Given the description of an element on the screen output the (x, y) to click on. 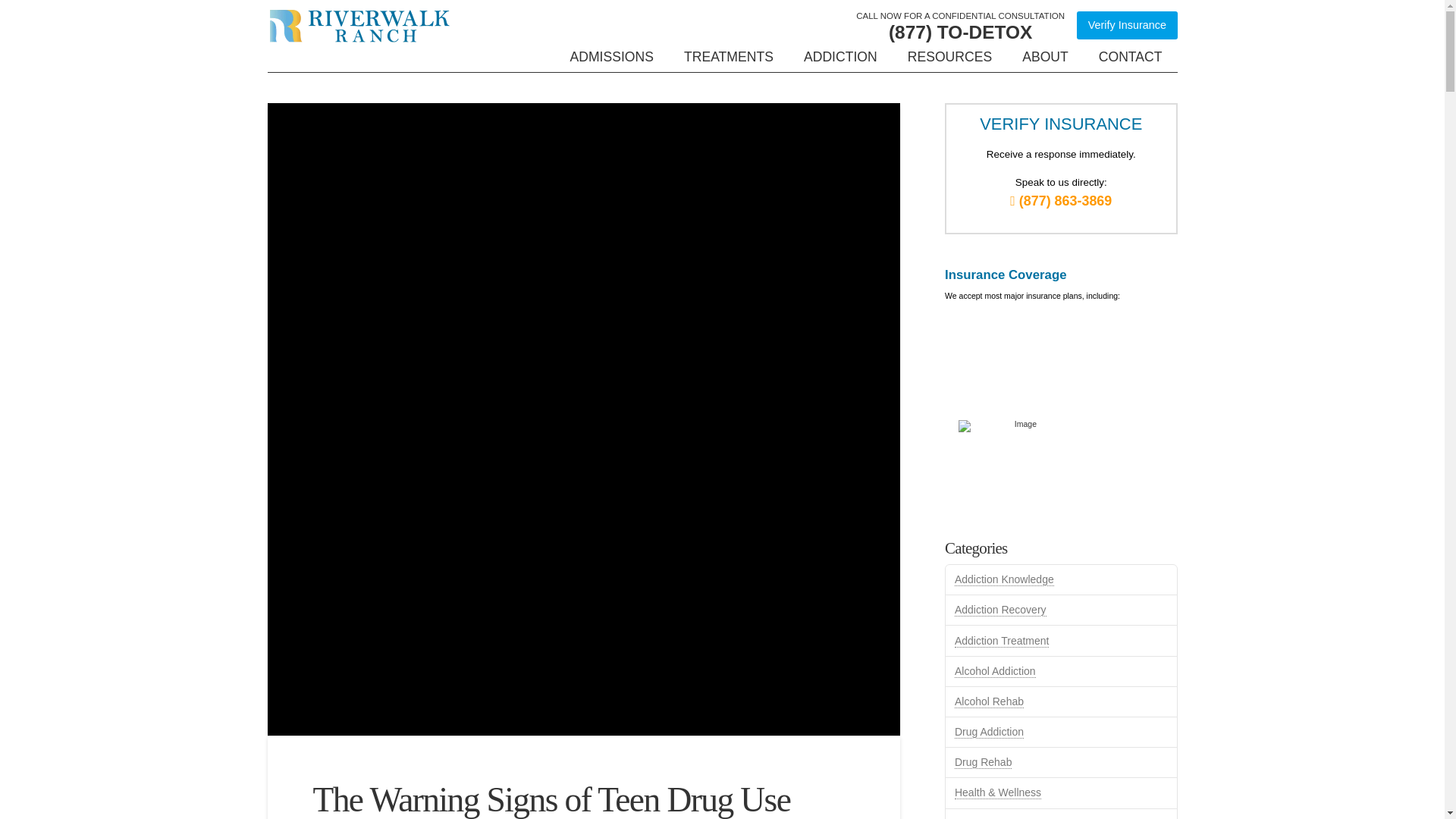
Teen Addiction (989, 818)
Verify Insurance (1126, 25)
Drug Addiction (989, 731)
Addiction Knowledge (1004, 579)
Drug Rehab (983, 762)
Alcohol Rehab (989, 701)
Addiction Recovery (1000, 609)
Addiction Treatment (1002, 640)
Alcohol Addiction (995, 671)
